Given the description of an element on the screen output the (x, y) to click on. 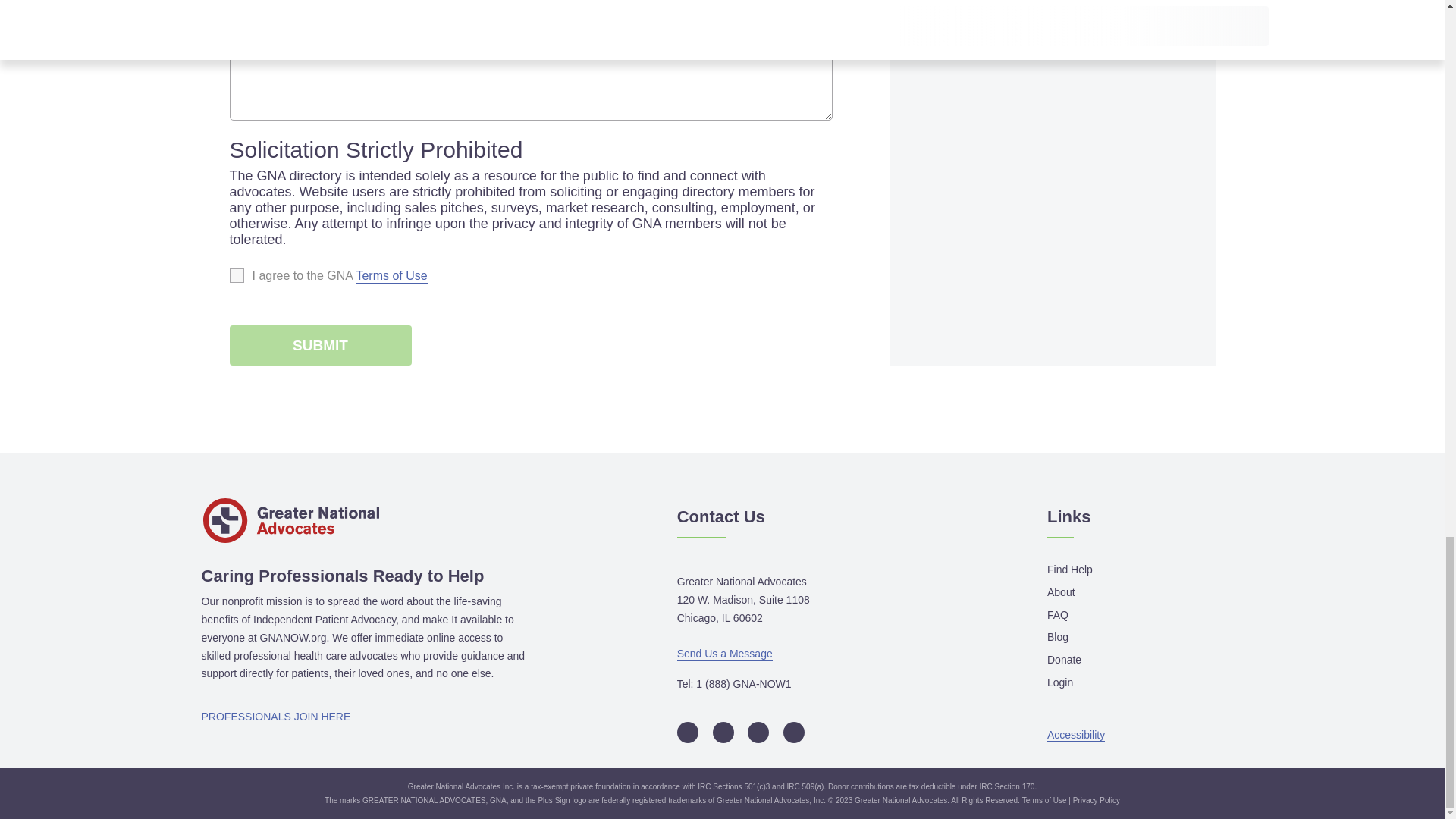
Submit (319, 345)
Login (1059, 683)
Contact Us (721, 517)
Donate (1063, 660)
Terms of Use (390, 275)
About (1060, 593)
Blog (1057, 637)
Find Help (1069, 570)
Find Help (1069, 570)
Blog (1057, 637)
About (1060, 593)
SUBMIT (319, 345)
FAQ (1057, 616)
Donate (1063, 660)
Send Us a Message (725, 653)
